Given the description of an element on the screen output the (x, y) to click on. 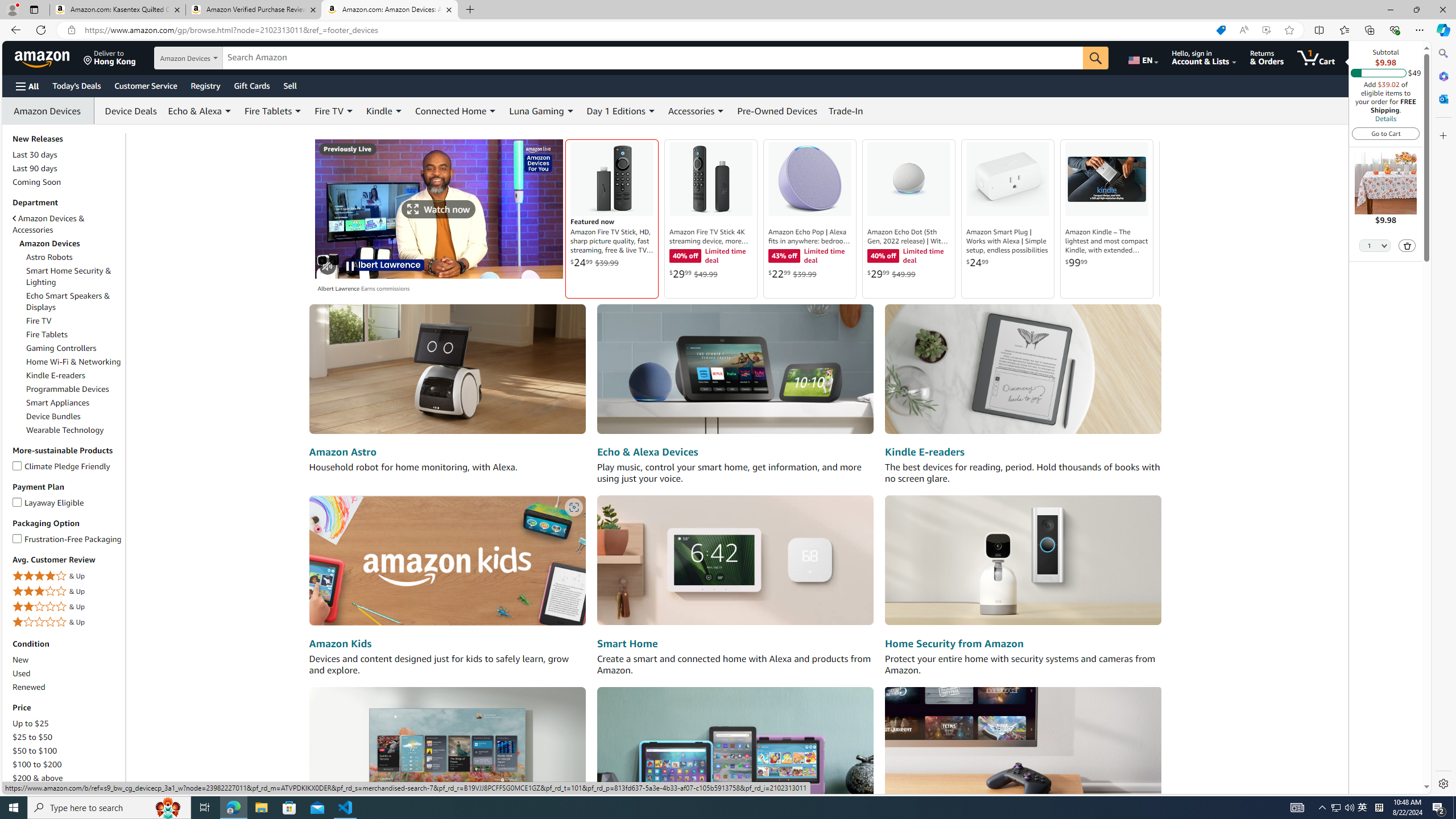
Last 90 days (67, 167)
Gift Cards (251, 85)
Renewed (67, 686)
Sell (290, 85)
Expand Connected Home (492, 111)
Go to Cart (1385, 133)
Fire TV devices (447, 751)
Hello, sign in Account & Lists (1203, 57)
Layaway EligibleLayaway Eligible (67, 502)
Smart Home Security & Lighting (69, 276)
Echo & Alexa Devices (734, 369)
